Given the description of an element on the screen output the (x, y) to click on. 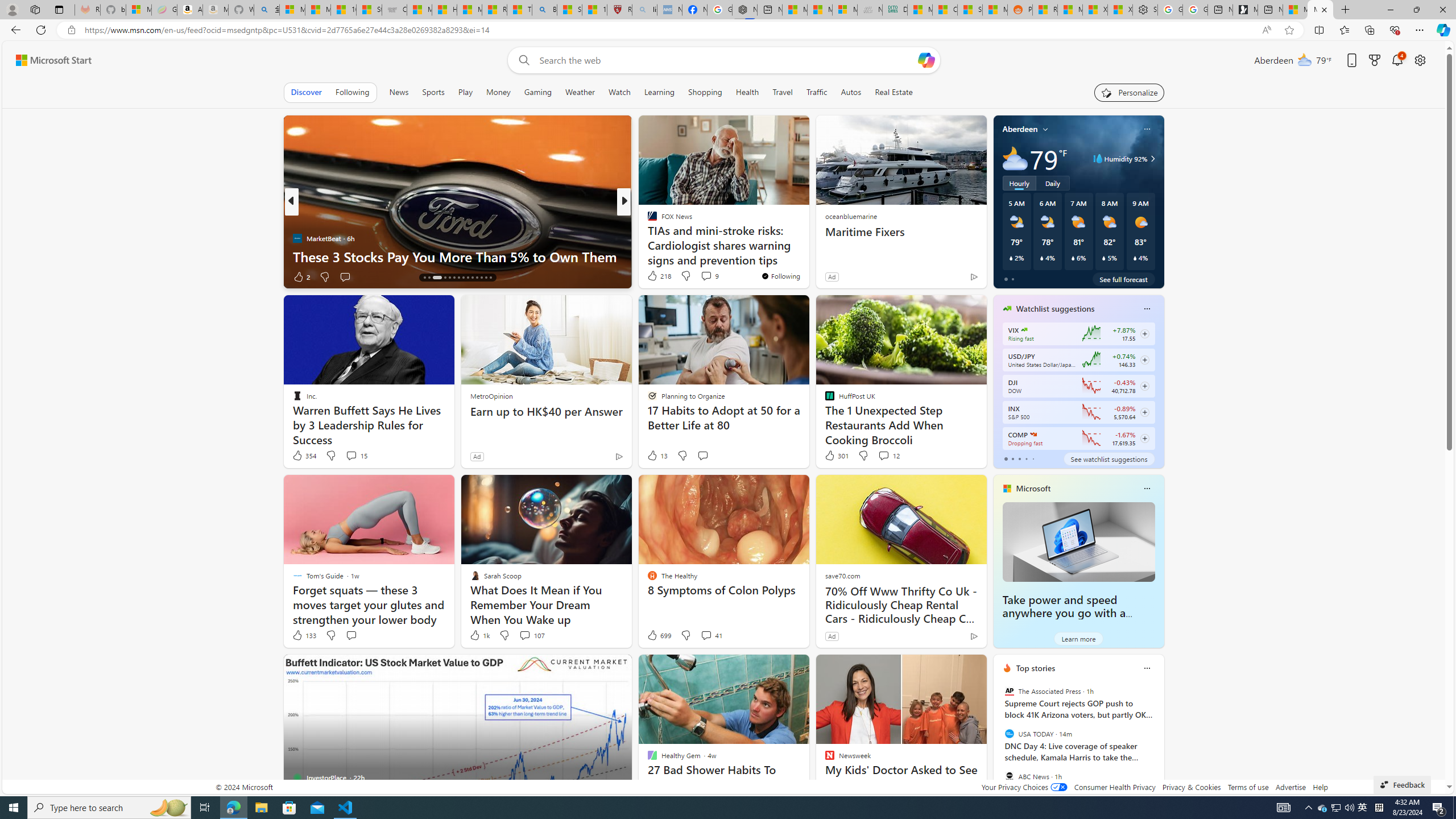
Microsoft (1033, 488)
View comments 66 Comment (707, 276)
Daily (1052, 183)
AutomationID: tab-24 (472, 277)
View comments 41 Comment (710, 634)
next (1158, 741)
